Given the description of an element on the screen output the (x, y) to click on. 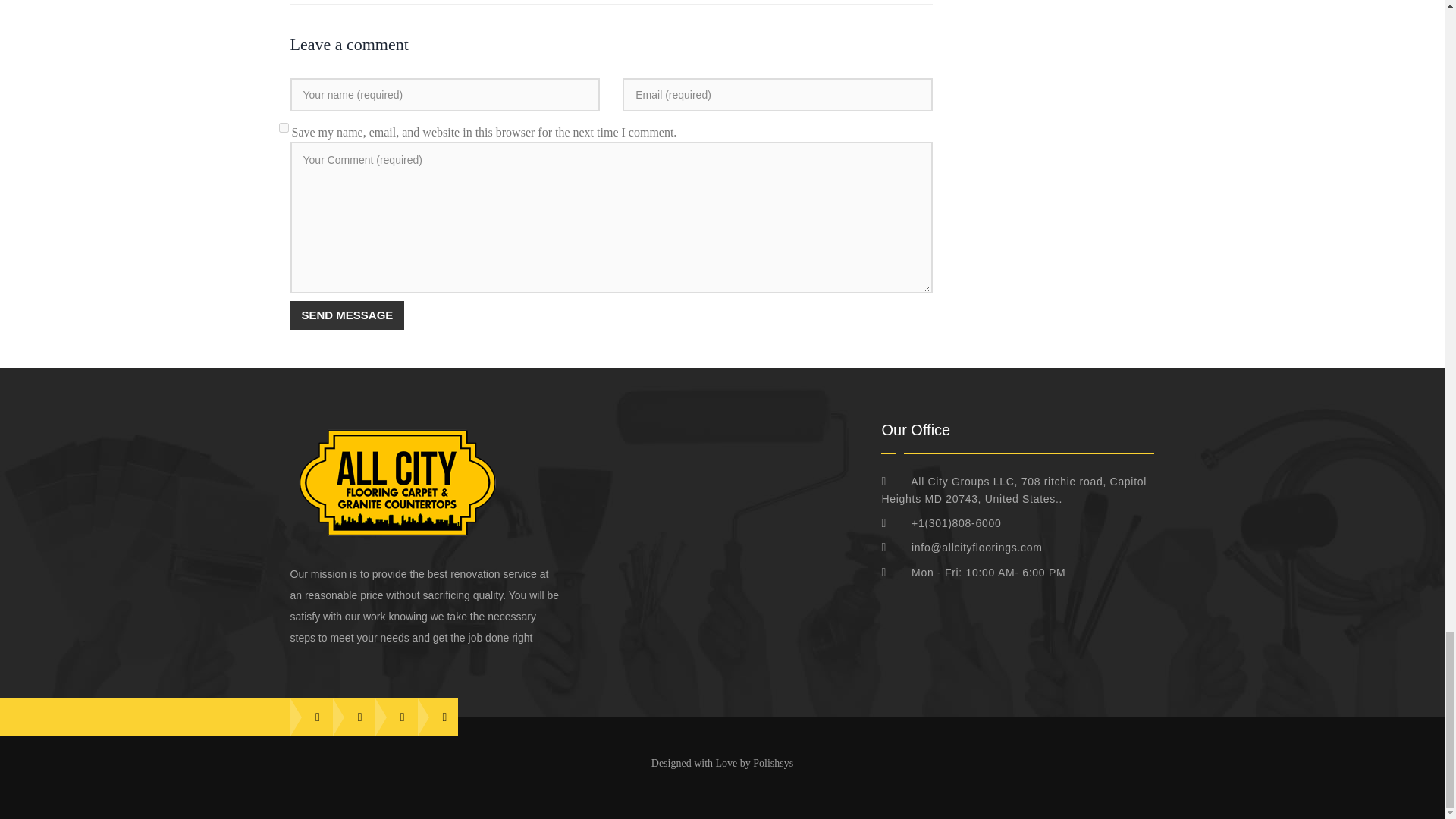
Send Message (346, 315)
yes (283, 127)
